Given the description of an element on the screen output the (x, y) to click on. 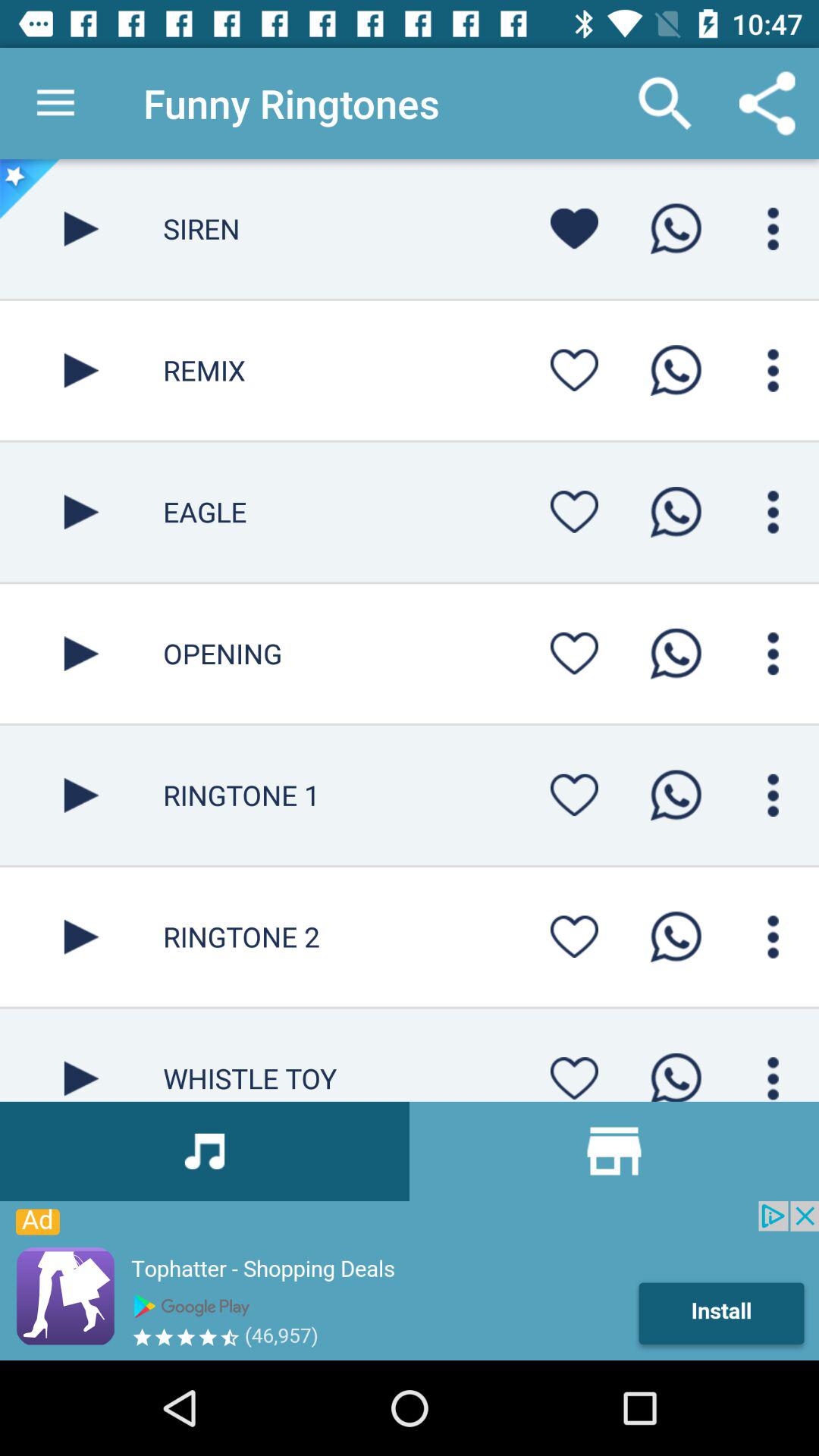
favorite heart icon (574, 653)
